Given the description of an element on the screen output the (x, y) to click on. 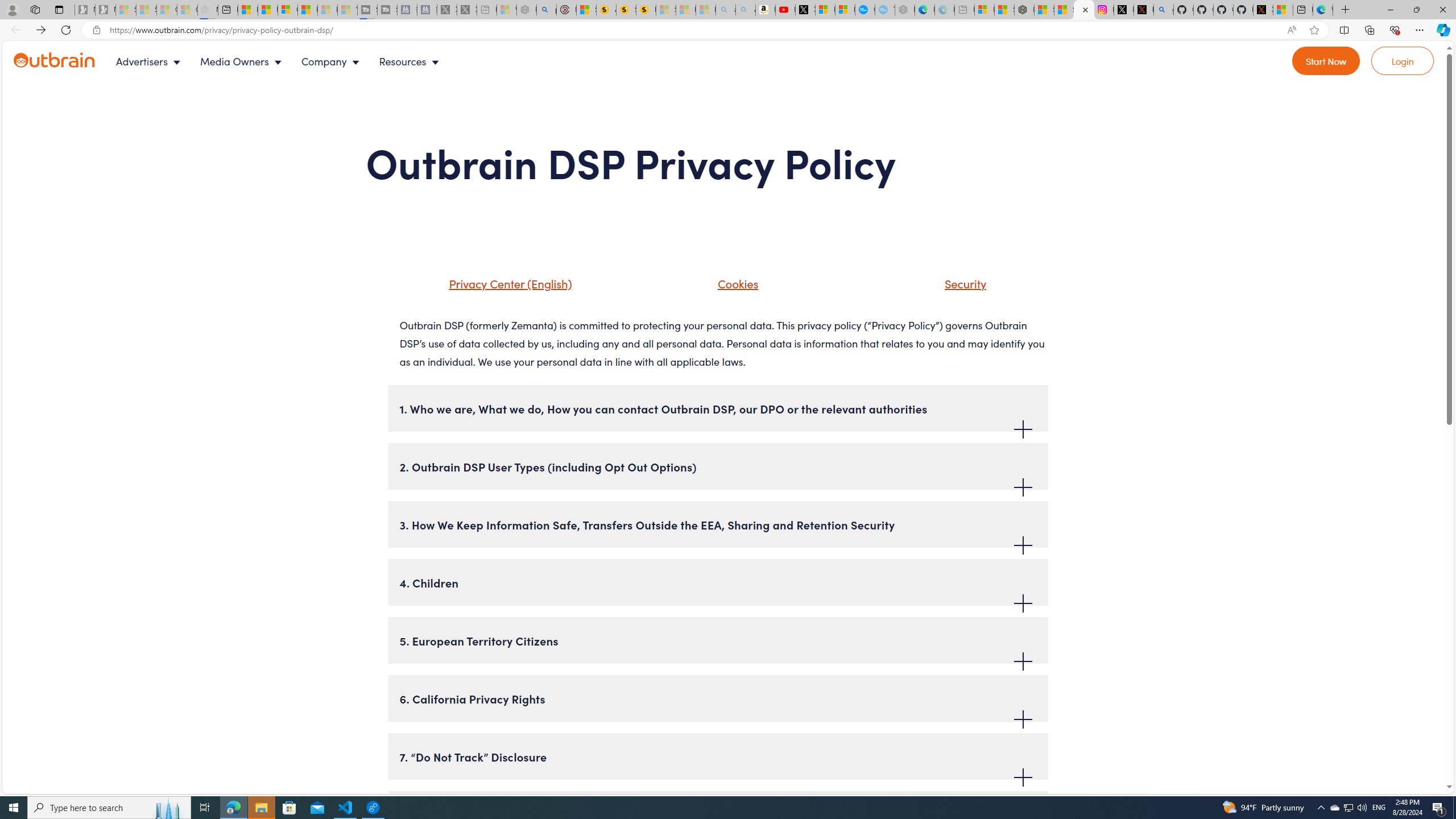
Privacy Center (English) (507, 282)
Outbrain logo - link to homepage (54, 59)
Go to Register (1325, 60)
Media Owners (242, 61)
Outbrain logo - link to homepage (67, 61)
Advertisers (151, 61)
Security (963, 282)
